Given the description of an element on the screen output the (x, y) to click on. 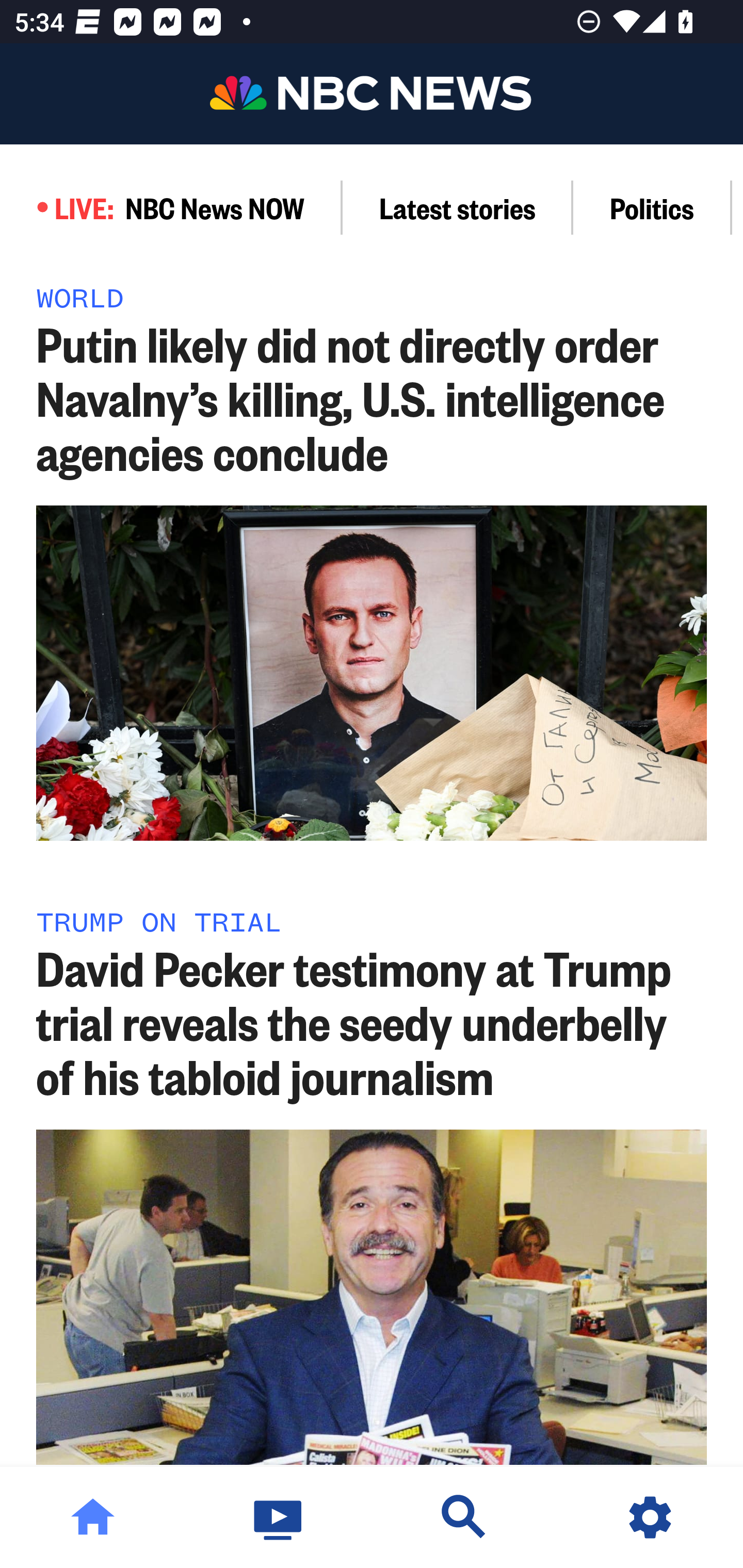
LIVE:  NBC News NOW (171, 207)
Latest stories Section,Latest stories (457, 207)
Politics Section,Politics (652, 207)
Watch (278, 1517)
Discover (464, 1517)
Settings (650, 1517)
